Given the description of an element on the screen output the (x, y) to click on. 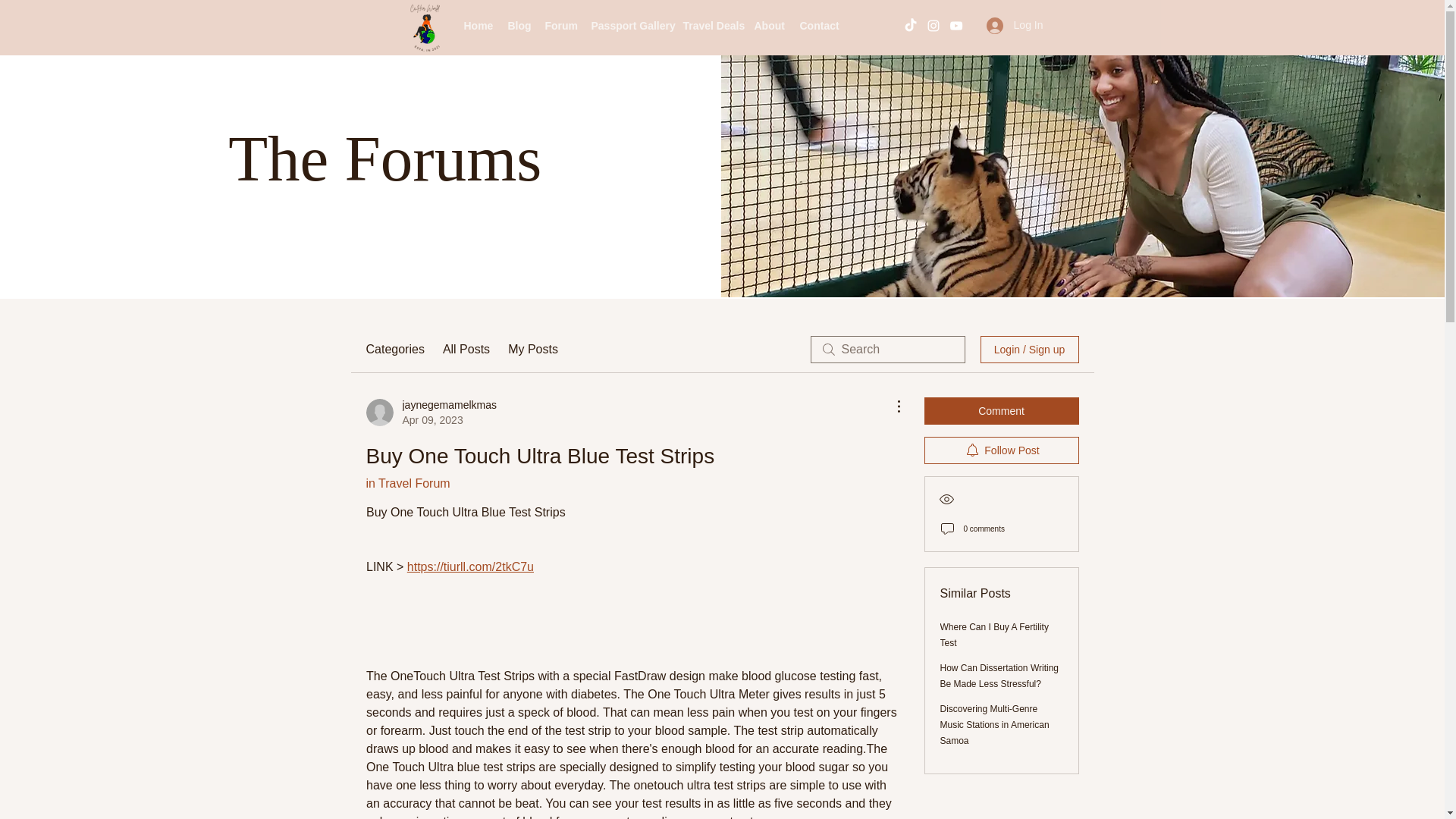
in Travel Forum (407, 482)
Comment (1000, 411)
Discovering Multi-Genre Music Stations in American Samoa (994, 724)
Forum (560, 25)
Contact (818, 25)
Where Can I Buy A Fertility Test (994, 634)
Passport Gallery (629, 25)
My Posts (532, 349)
Categories (394, 349)
Log In (1014, 25)
